Given the description of an element on the screen output the (x, y) to click on. 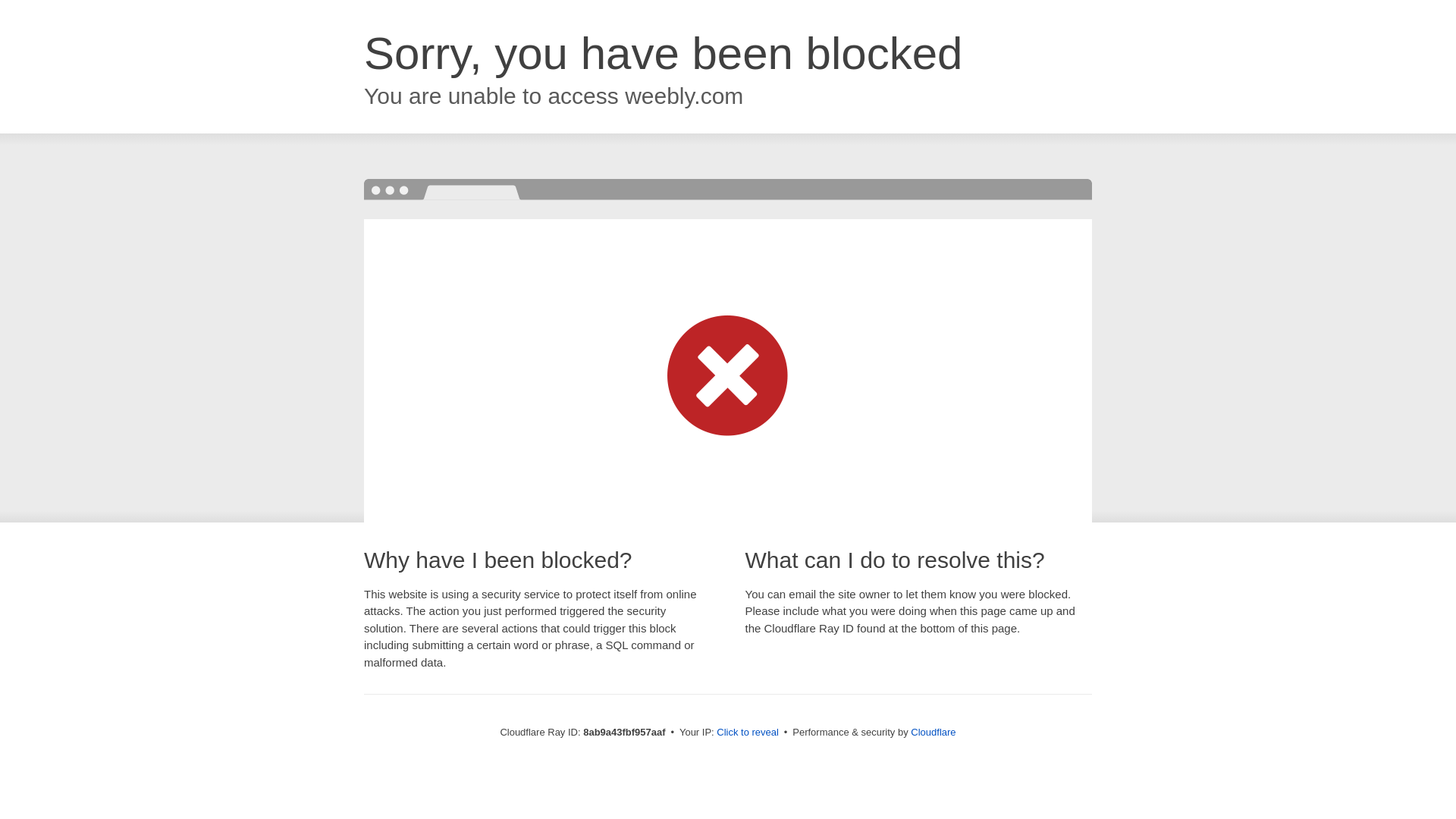
Click to reveal (747, 732)
Cloudflare (933, 731)
